Given the description of an element on the screen output the (x, y) to click on. 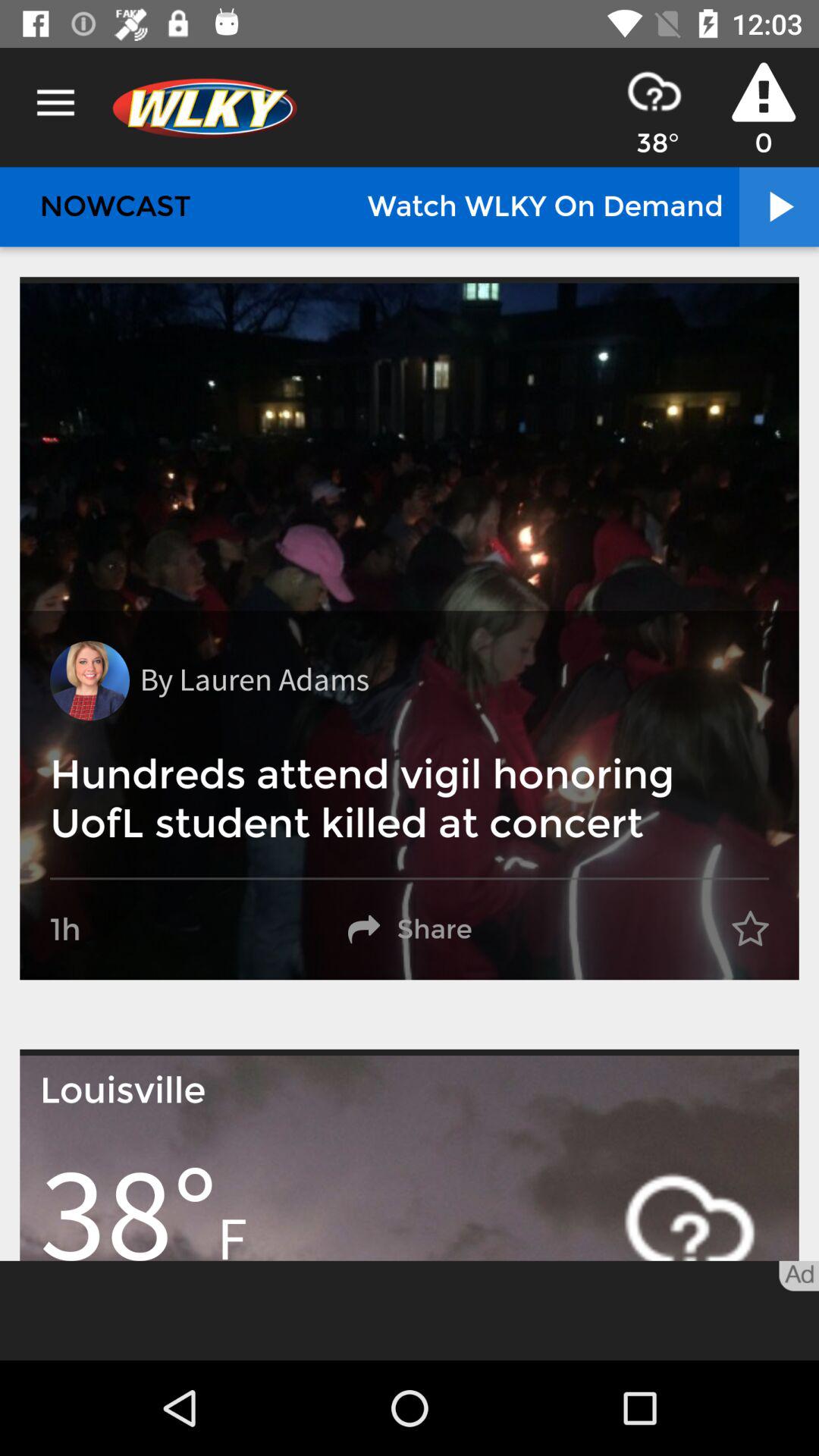
press icon above the hundreds attend vigil (89, 680)
